Given the description of an element on the screen output the (x, y) to click on. 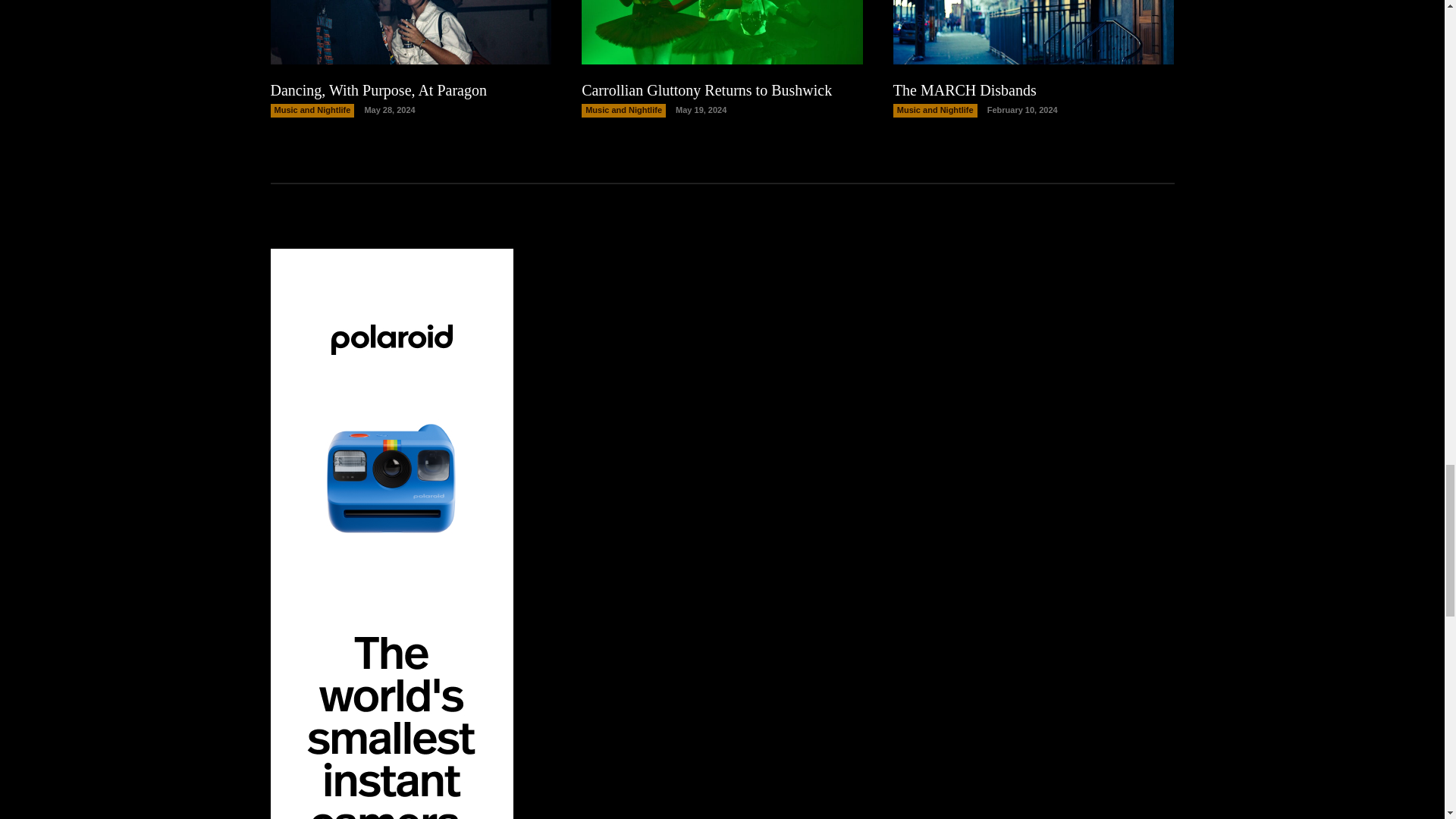
Dancing, With Purpose, At Paragon (377, 89)
Music and Nightlife (311, 110)
